Given the description of an element on the screen output the (x, y) to click on. 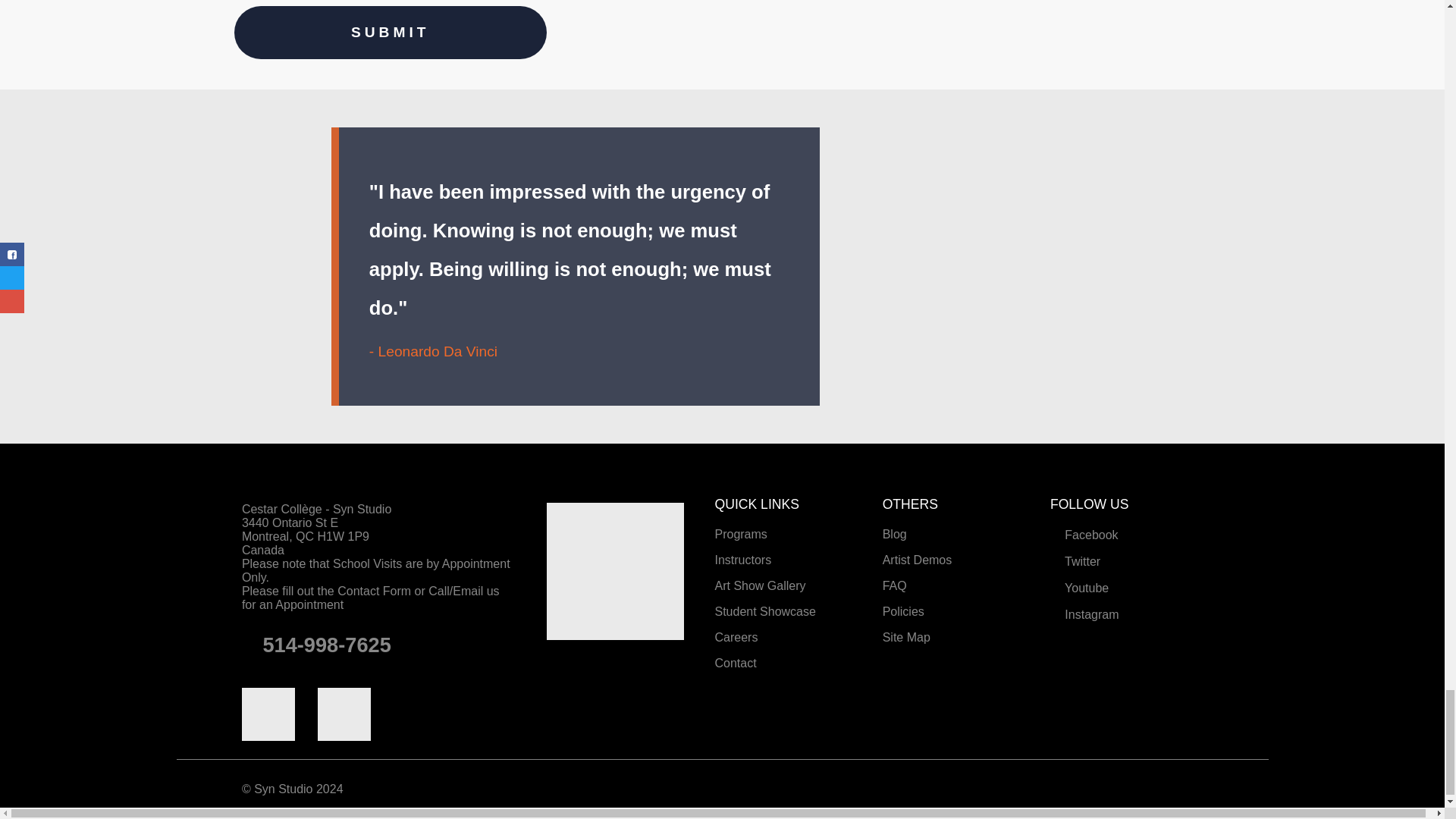
Submit (390, 31)
